Given the description of an element on the screen output the (x, y) to click on. 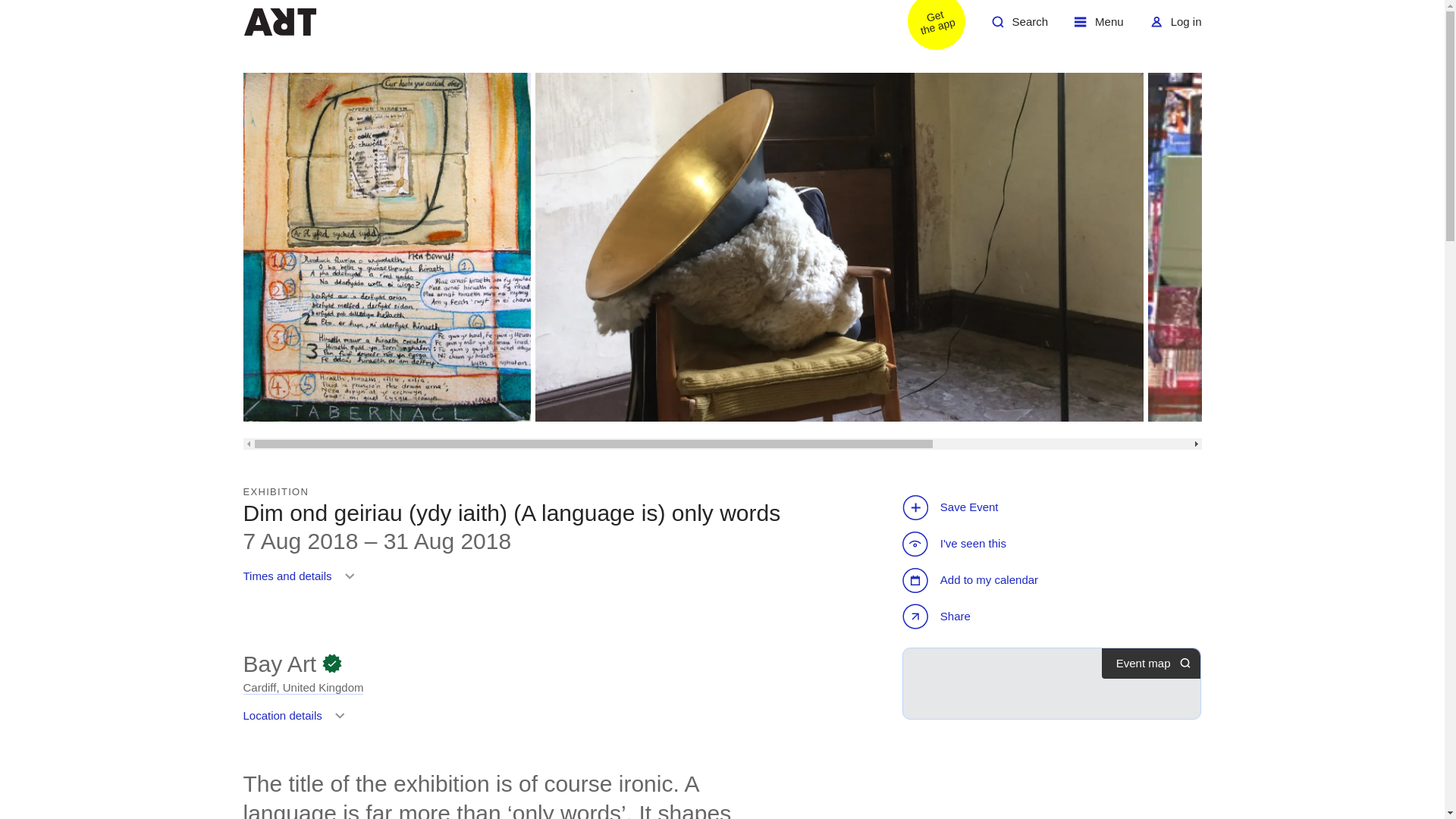
Add to my calendar (972, 579)
Share (1099, 26)
Cardiff, United Kingdom (926, 27)
Bay Art (302, 581)
